Given the description of an element on the screen output the (x, y) to click on. 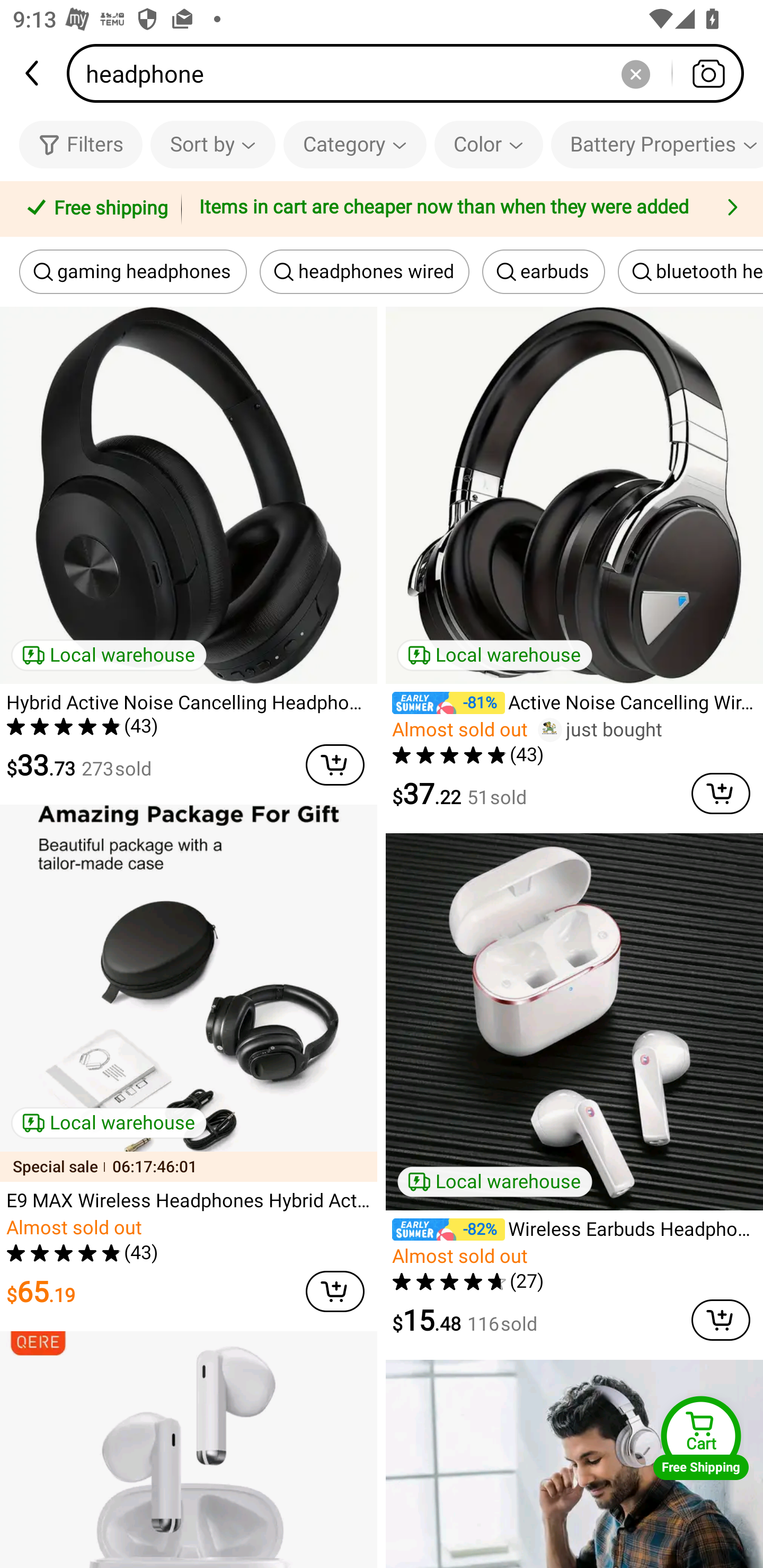
back (33, 72)
headphone (411, 73)
Delete search history (635, 73)
Search by photo (708, 73)
Filters (80, 143)
Sort by (212, 143)
Category (354, 143)
Color (488, 143)
Battery Properties (656, 143)
 Free shipping (93, 208)
gaming headphones (133, 271)
headphones wired (364, 271)
earbuds (543, 271)
bluetooth headphones (690, 271)
cart delete (334, 764)
cart delete (720, 793)
cart delete (334, 1291)
cart delete (720, 1319)
Cart Free Shipping Cart (701, 1437)
